Given the description of an element on the screen output the (x, y) to click on. 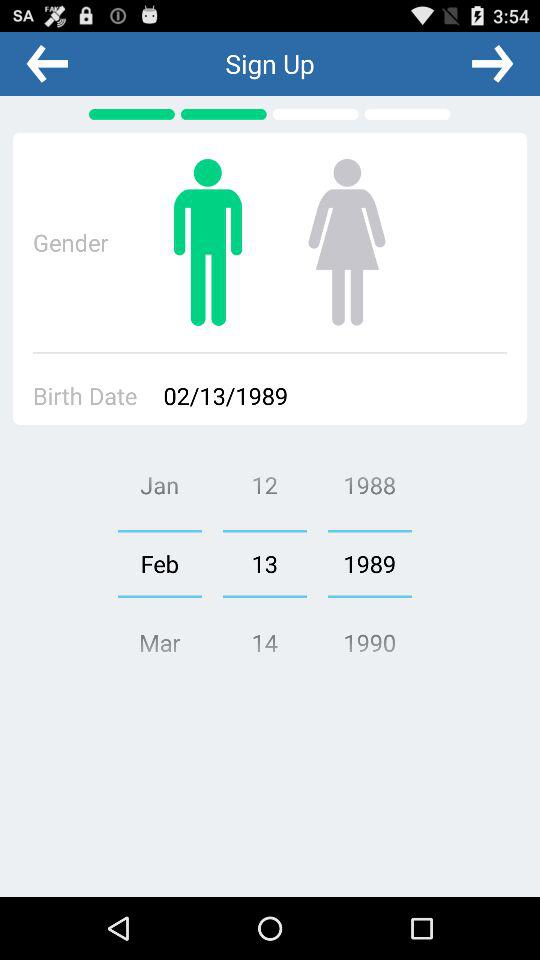
option to click if your gender is female (346, 242)
